Given the description of an element on the screen output the (x, y) to click on. 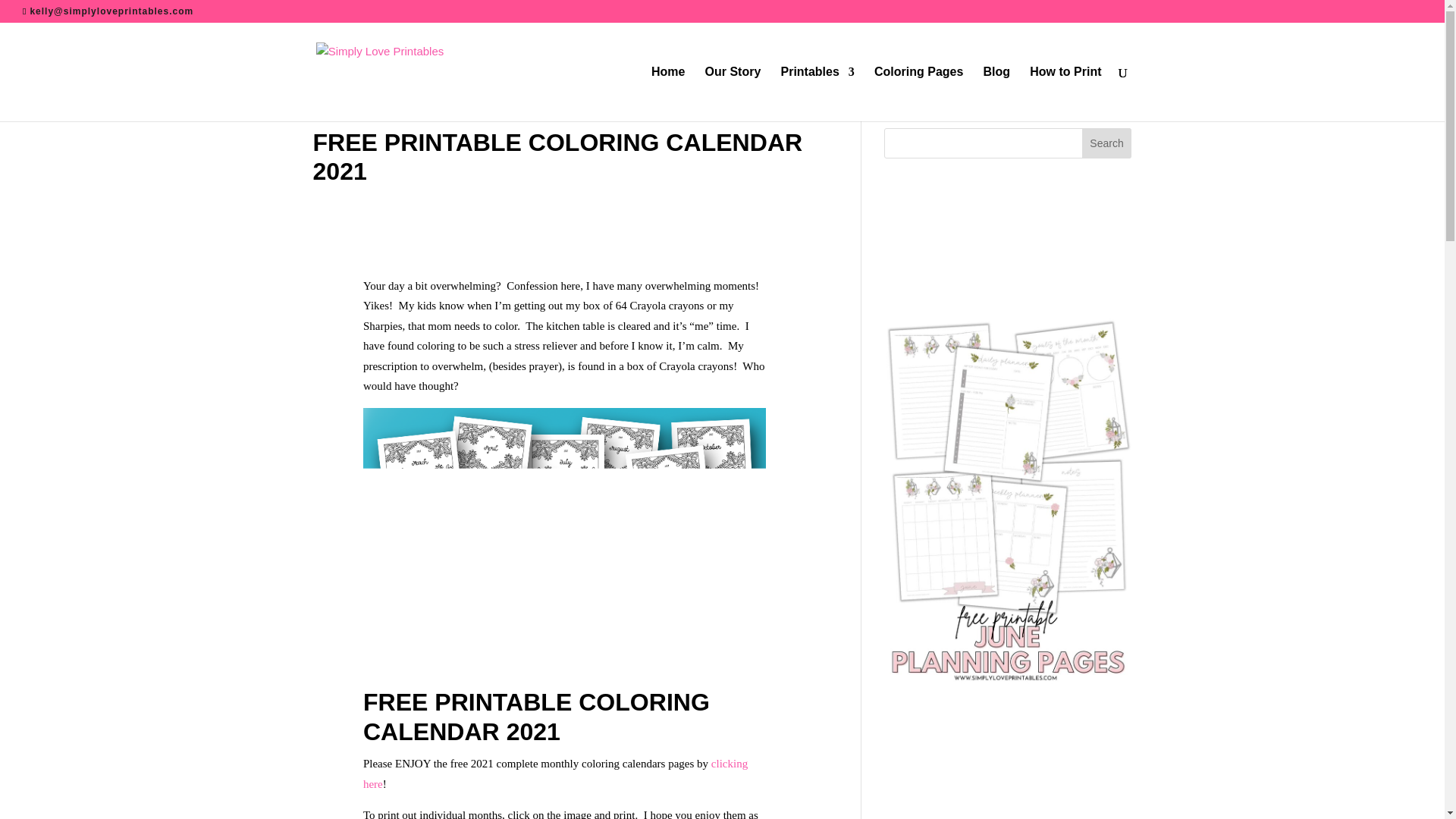
Our Story (732, 93)
Search (1106, 142)
clicking here (555, 773)
How to Print (1064, 93)
Coloring Pages (918, 93)
Search (1106, 142)
FREE PRINTABLE COLORING CALENDAR 2021 (557, 156)
Printables (817, 93)
